Given the description of an element on the screen output the (x, y) to click on. 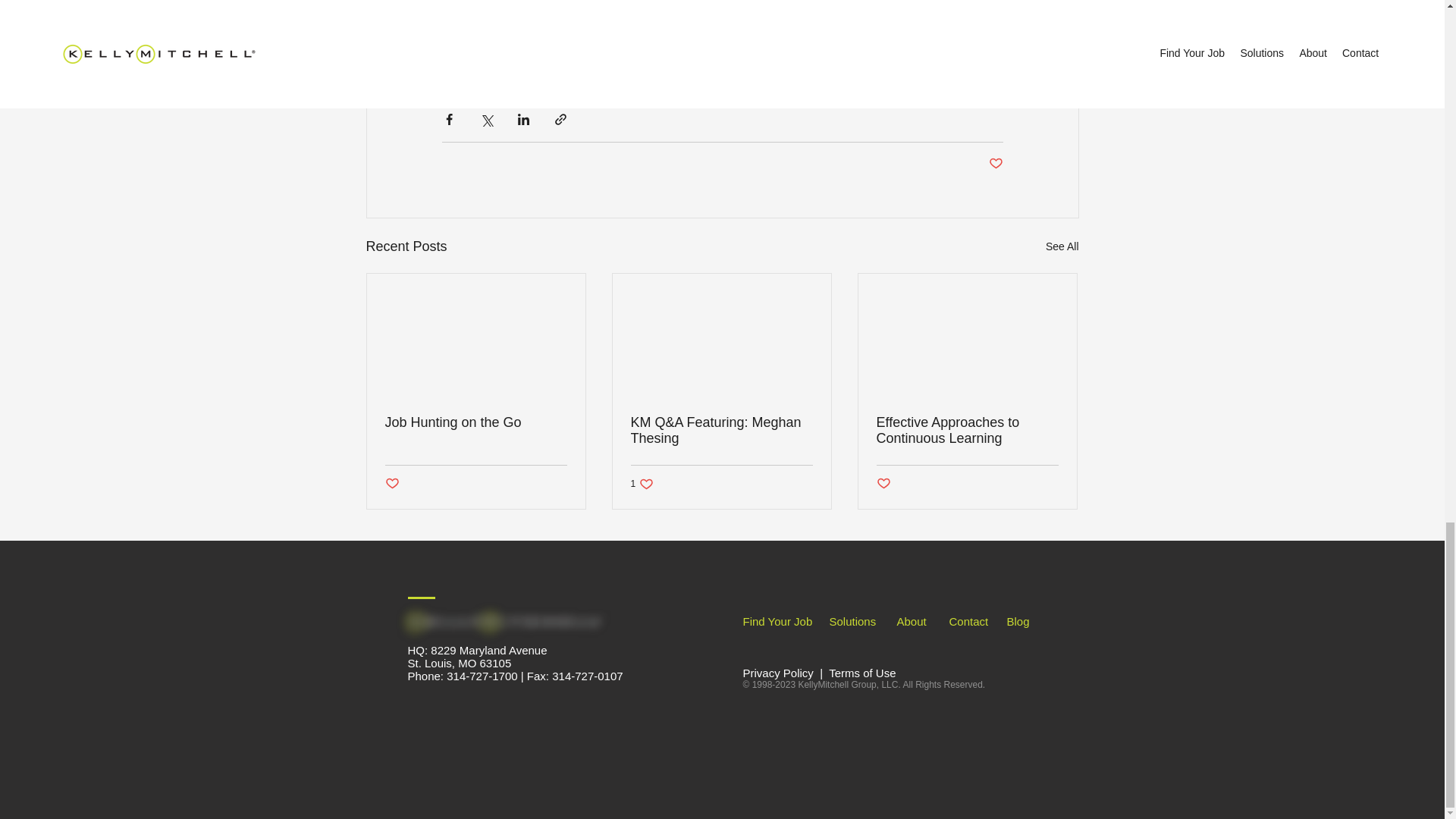
Terms of Use (861, 672)
Privacy Policy (779, 672)
See All (1061, 246)
Effective Approaches to Continuous Learning (967, 430)
Solutions (852, 621)
About (641, 483)
Find Your Job (911, 621)
Post not marked as liked (777, 621)
interview (883, 483)
Contact (471, 60)
Job Hunting on the Go (968, 621)
Post not marked as liked (476, 422)
Post not marked as liked (391, 483)
Interviews (995, 163)
